Given the description of an element on the screen output the (x, y) to click on. 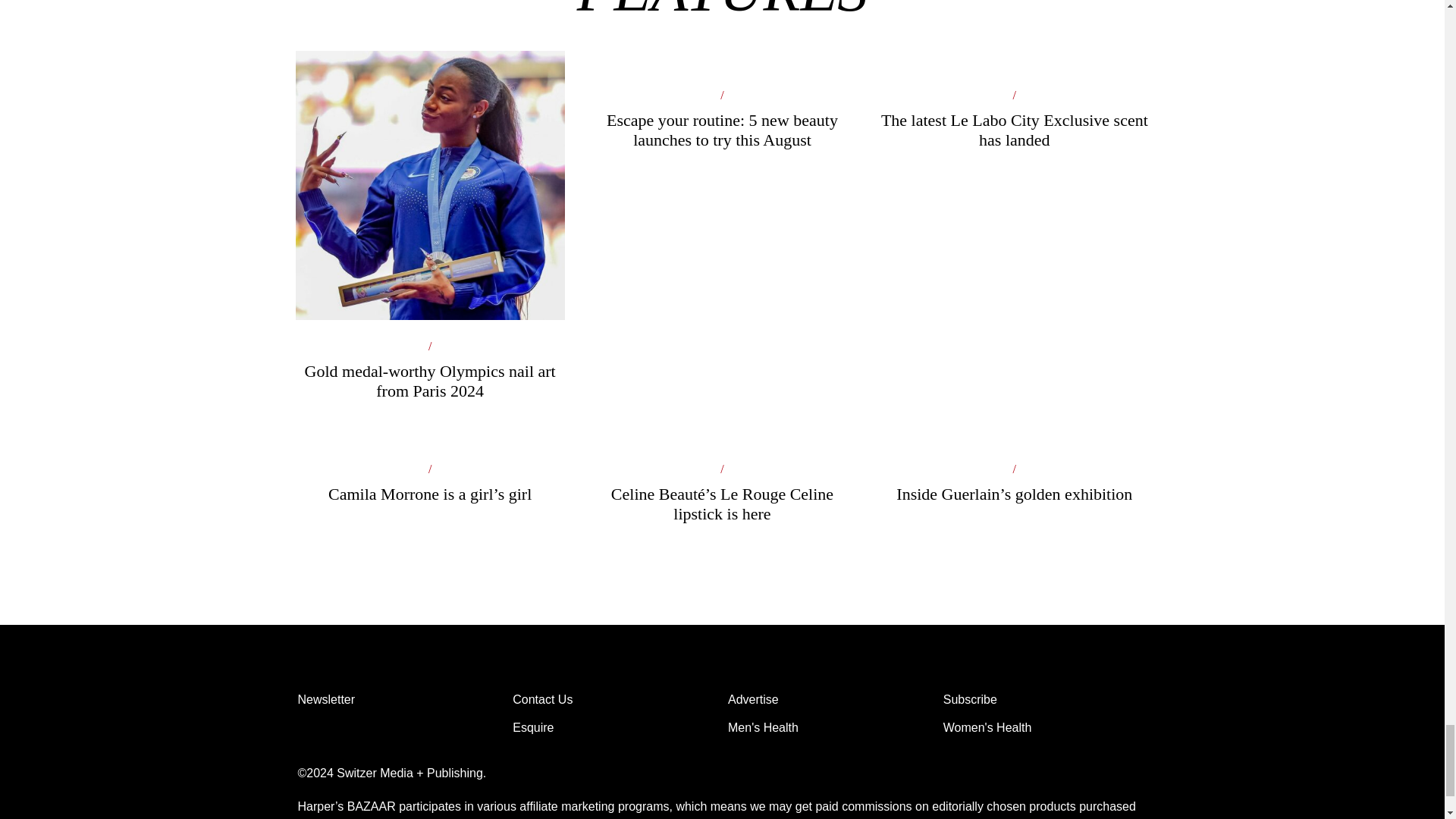
The latest Le Labo City Exclusive scent has landed (1013, 136)
Newsletter (398, 700)
Gold medal-worthy Olympics nail art from Paris 2024 (429, 289)
